Given the description of an element on the screen output the (x, y) to click on. 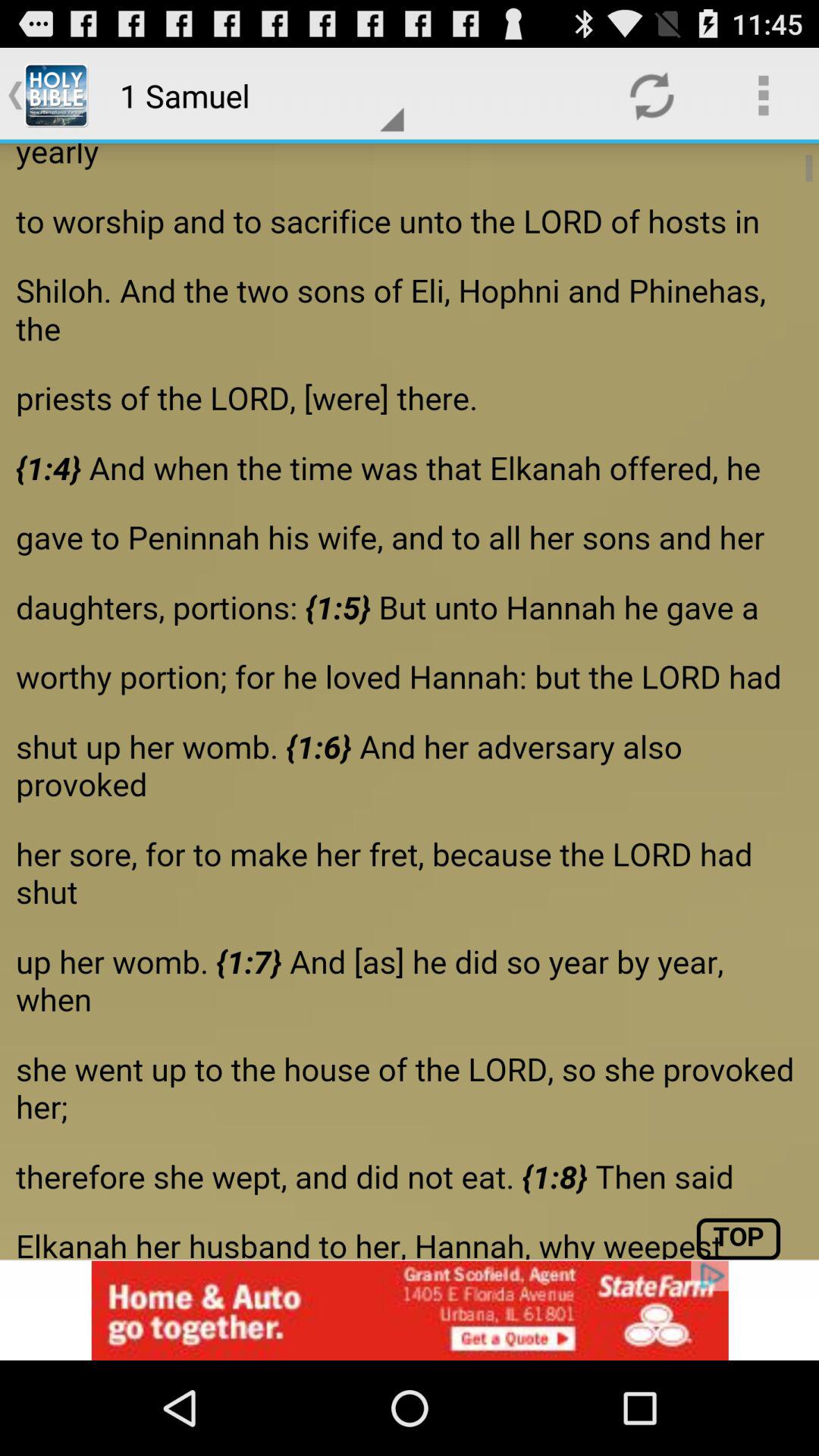
advertisement (409, 1310)
